Given the description of an element on the screen output the (x, y) to click on. 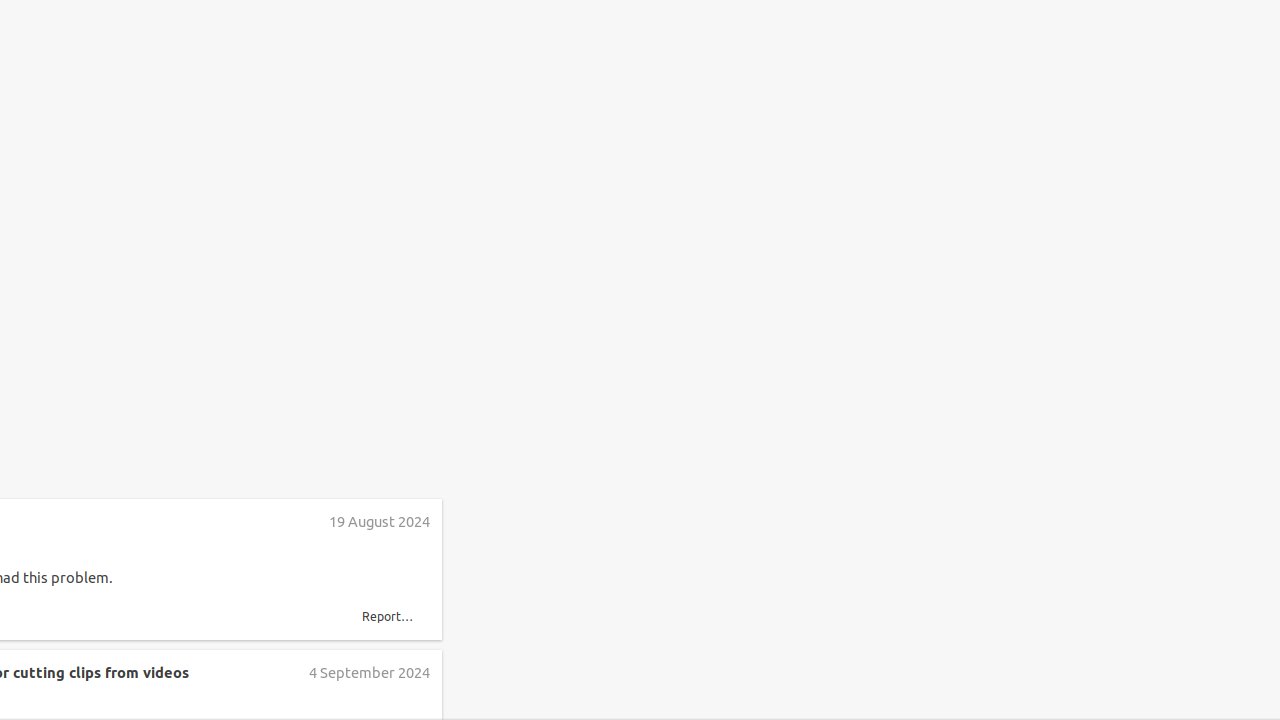
 4 September 2024 Element type: label (368, 672)
19 August 2024 Element type: label (379, 521)
